Given the description of an element on the screen output the (x, y) to click on. 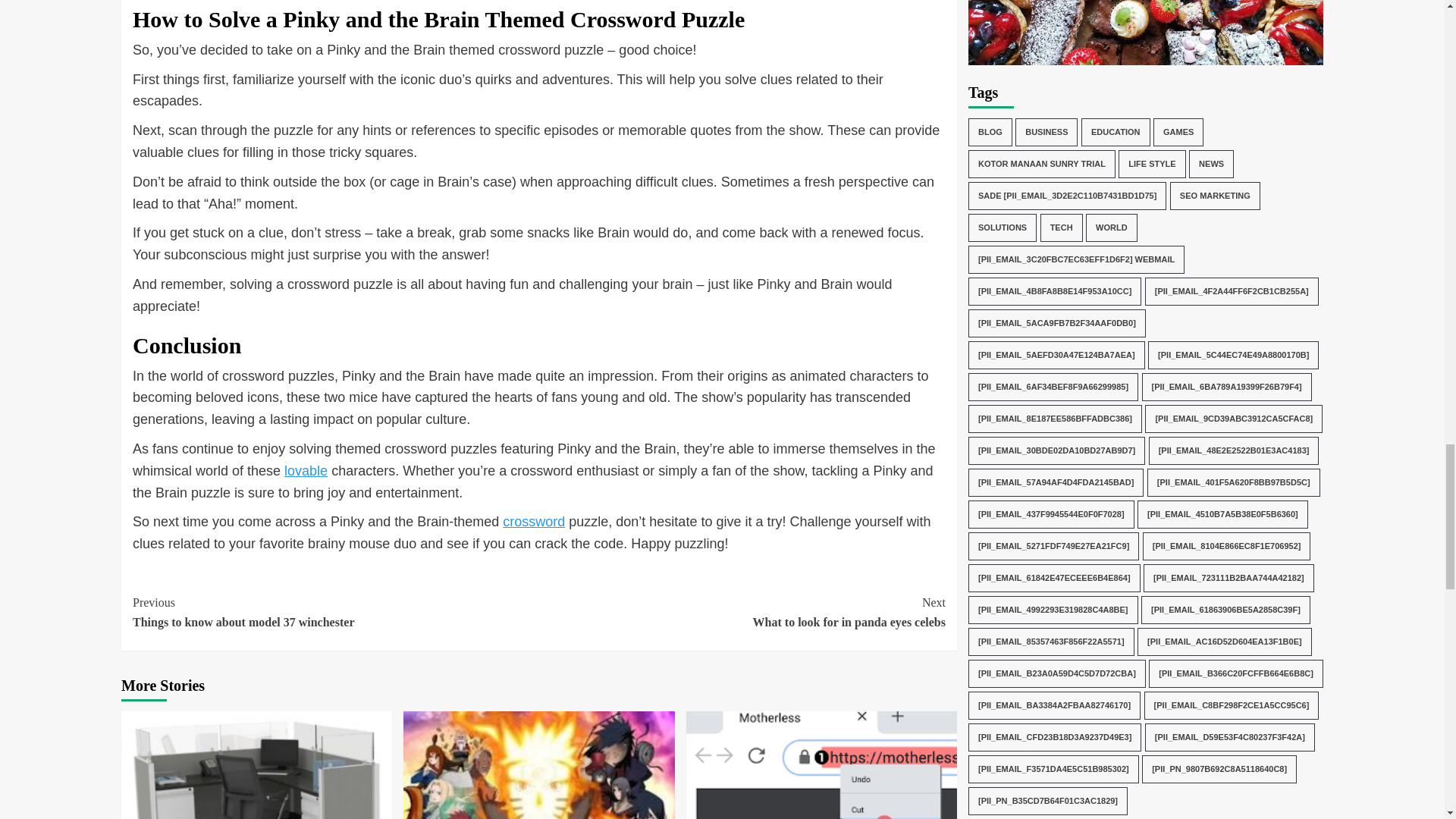
lovable (305, 470)
crossword (335, 611)
